Given the description of an element on the screen output the (x, y) to click on. 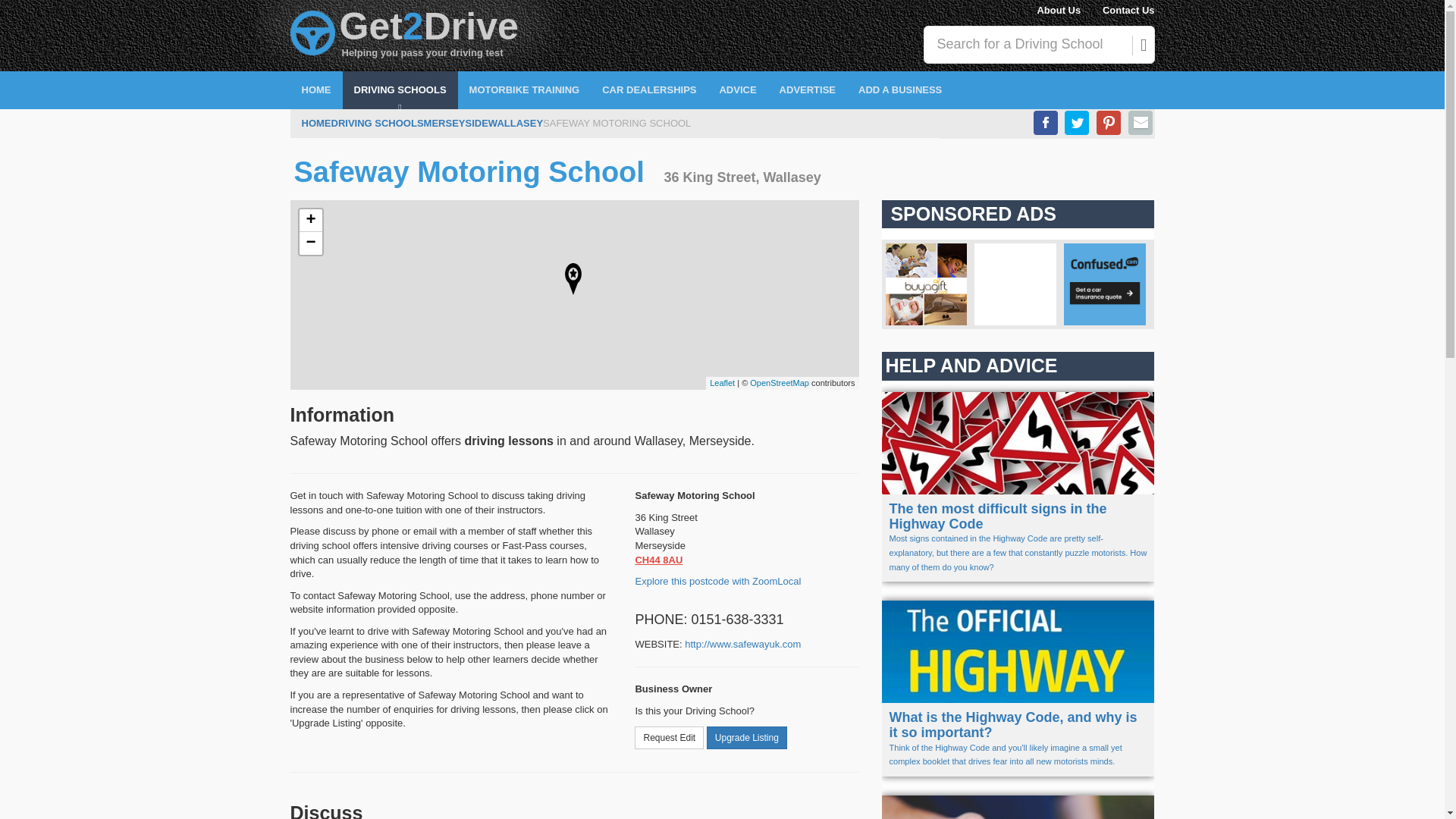
Explore this postcode with ZoomLocal (717, 581)
OpenStreetMap (779, 382)
WALLASEY (515, 124)
Zoom in (309, 220)
MERSEYSIDE (455, 124)
HOME (315, 89)
Upgrade Listing (746, 737)
Leaflet (722, 382)
